Given the description of an element on the screen output the (x, y) to click on. 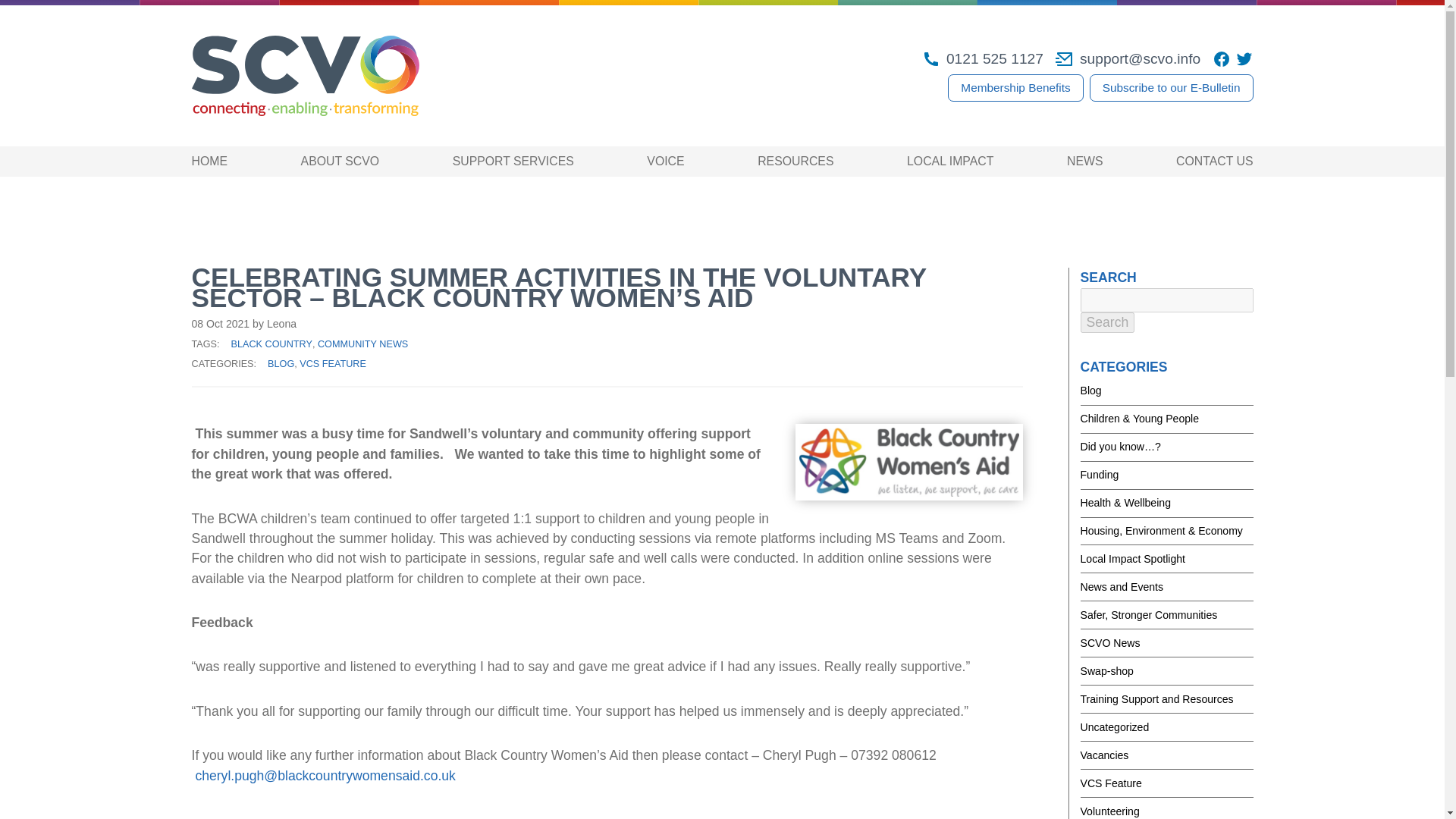
HOME (208, 160)
SUPPORT SERVICES (512, 160)
Subscribe to our E-Bulletin (1171, 87)
Search (1107, 322)
VOICE (665, 160)
ABOUT SCVO (340, 160)
Membership Benefits (1015, 87)
0121 525 1127 (982, 58)
